Given the description of an element on the screen output the (x, y) to click on. 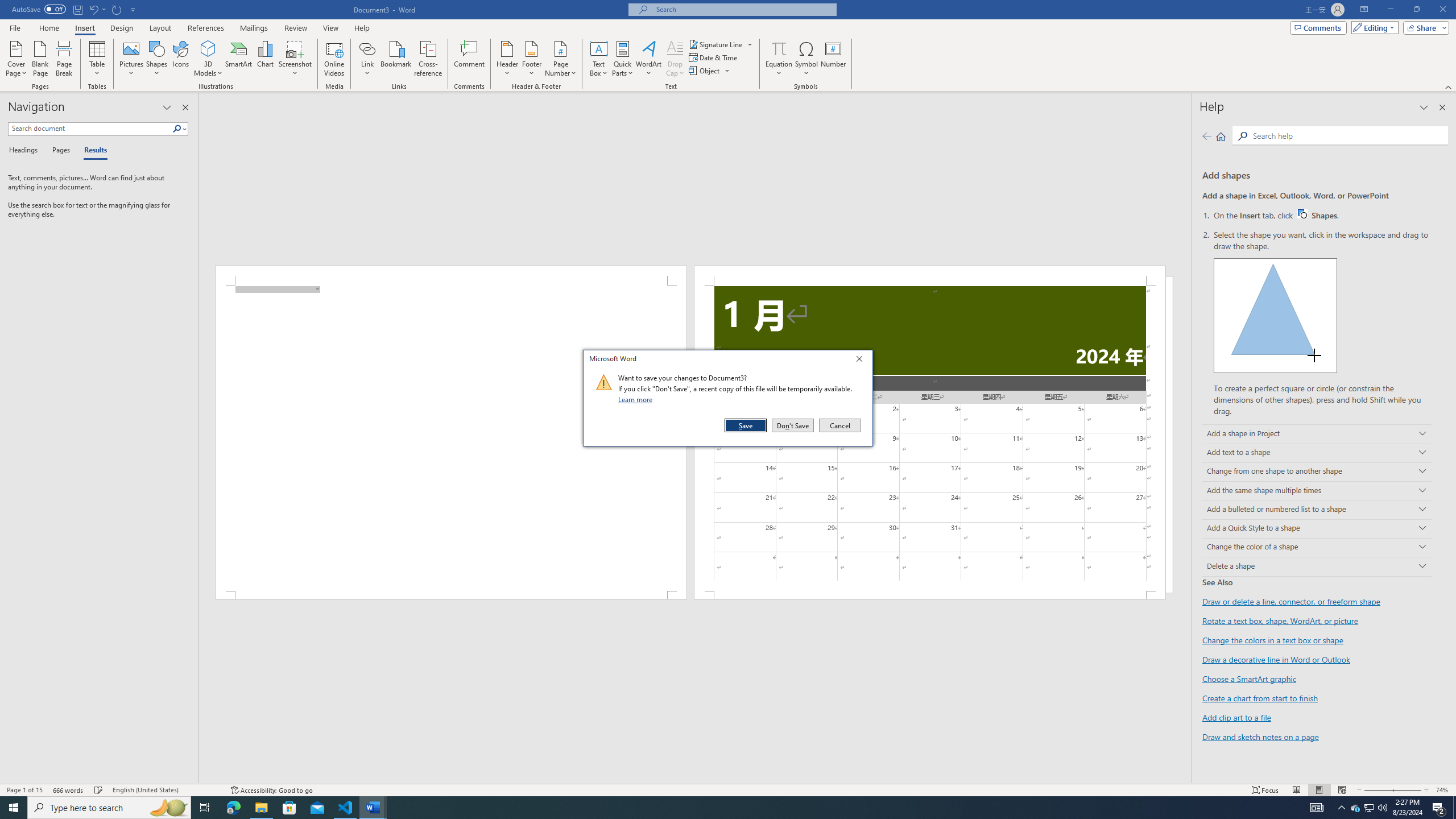
Add text to a shape (1316, 452)
Restore Down (1416, 9)
Type here to search (108, 807)
Link (367, 48)
Symbol (806, 58)
Quick Access Toolbar (74, 9)
Print Layout (1318, 790)
Class: NetUIScrollBar (695, 778)
Visual Studio Code - 1 running window (345, 807)
Shapes (156, 58)
Pages (59, 150)
File Explorer - 1 running window (261, 807)
Mode (1372, 27)
Page Break (63, 58)
Object... (705, 69)
